Given the description of an element on the screen output the (x, y) to click on. 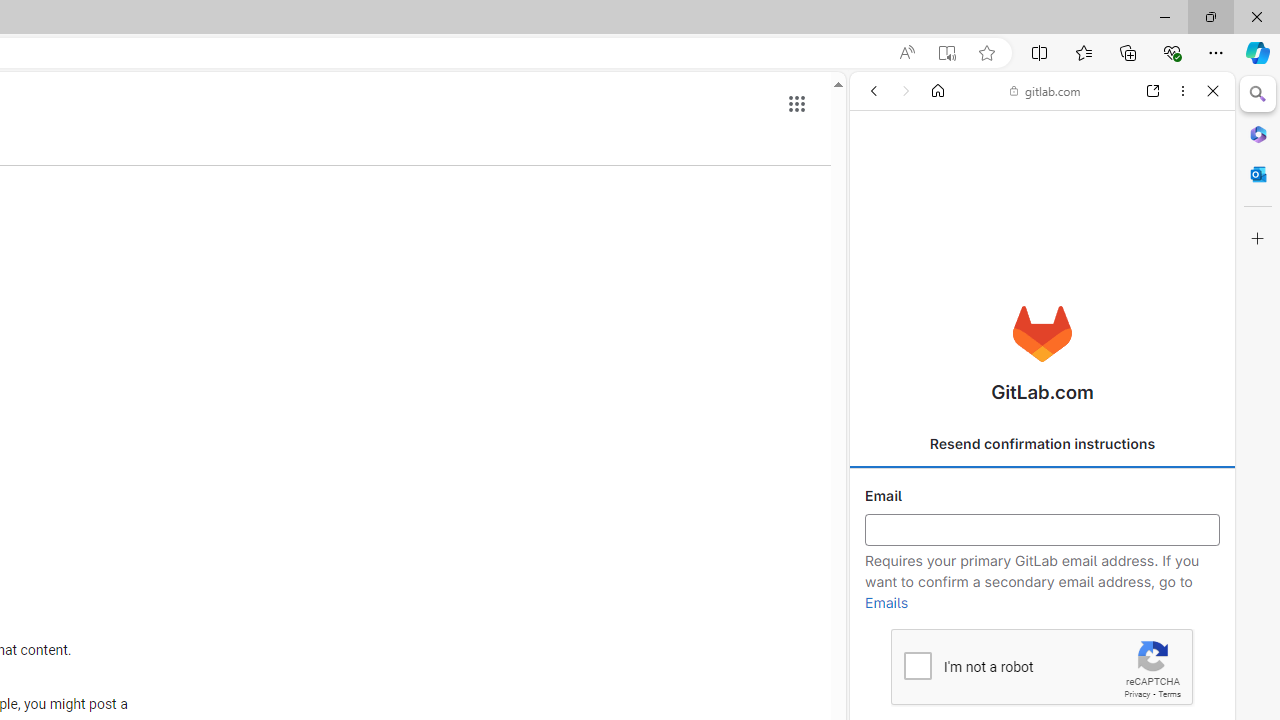
Register Now (1042, 445)
Register Now (1042, 445)
SEARCH TOOLS (1090, 228)
Close Search pane (1258, 94)
